Given the description of an element on the screen output the (x, y) to click on. 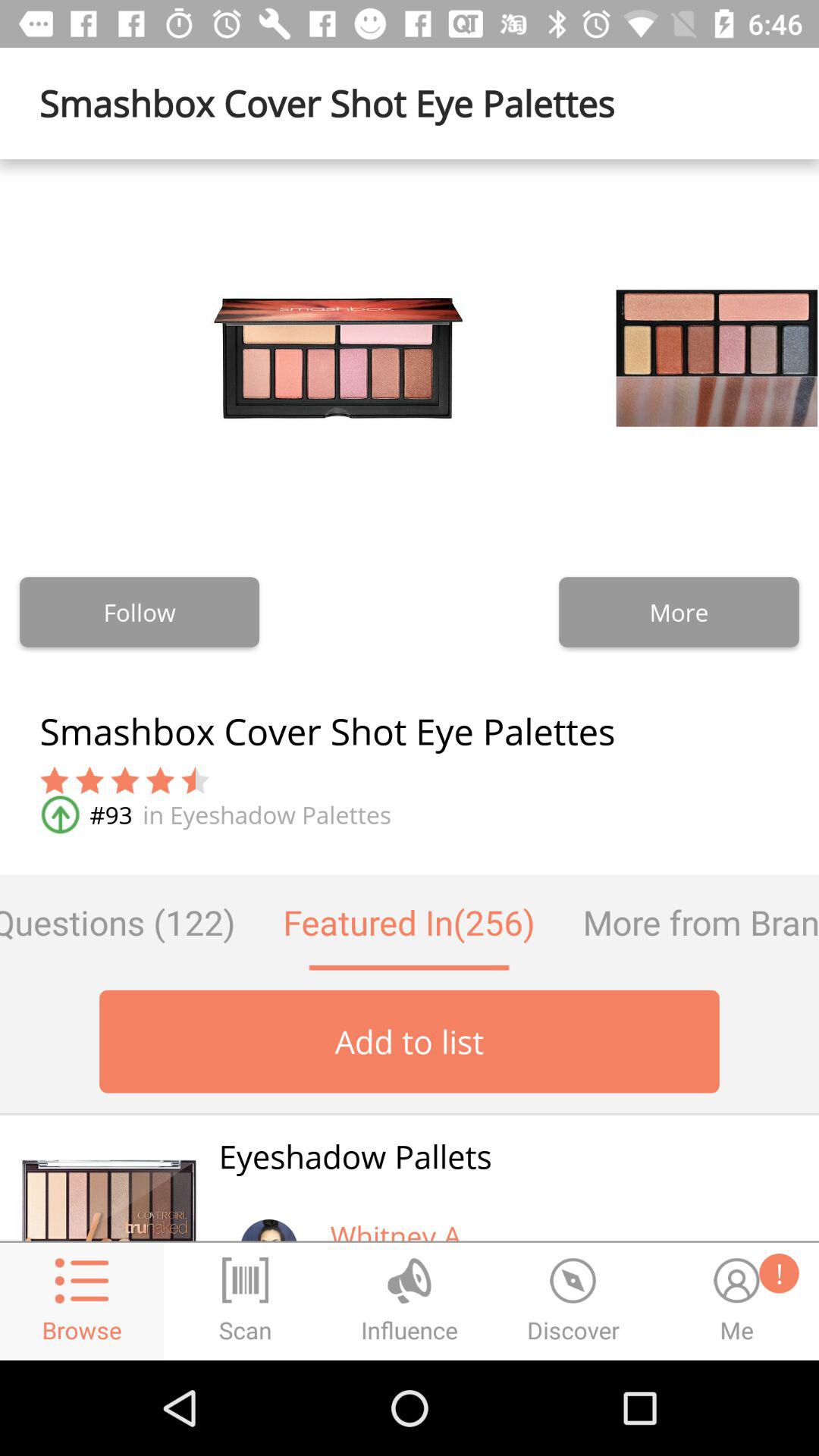
tap item to the left of the more from brand item (409, 922)
